Given the description of an element on the screen output the (x, y) to click on. 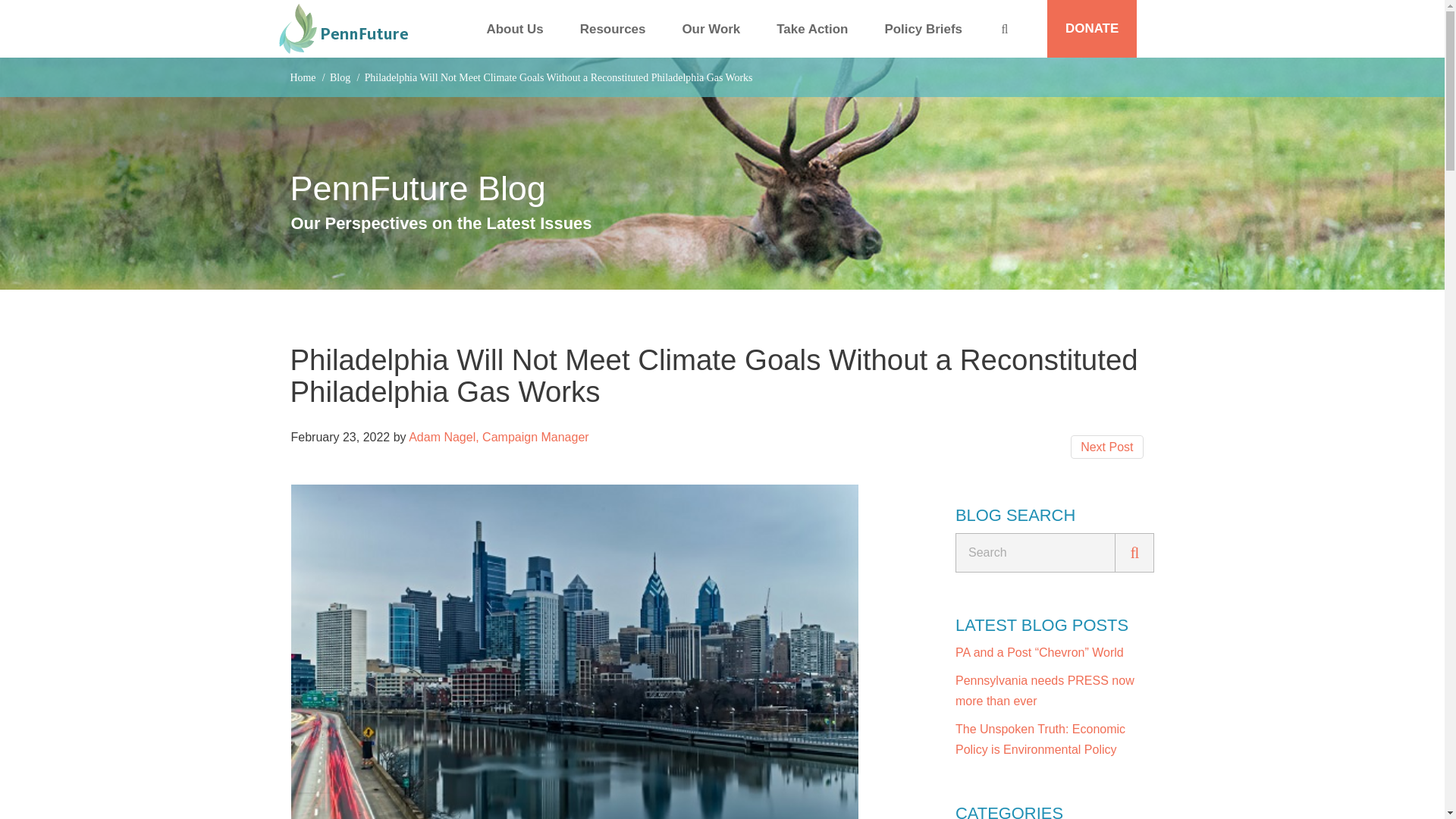
Resources (612, 29)
Our Work (710, 29)
About Us (515, 29)
PennFuture (344, 29)
